Given the description of an element on the screen output the (x, y) to click on. 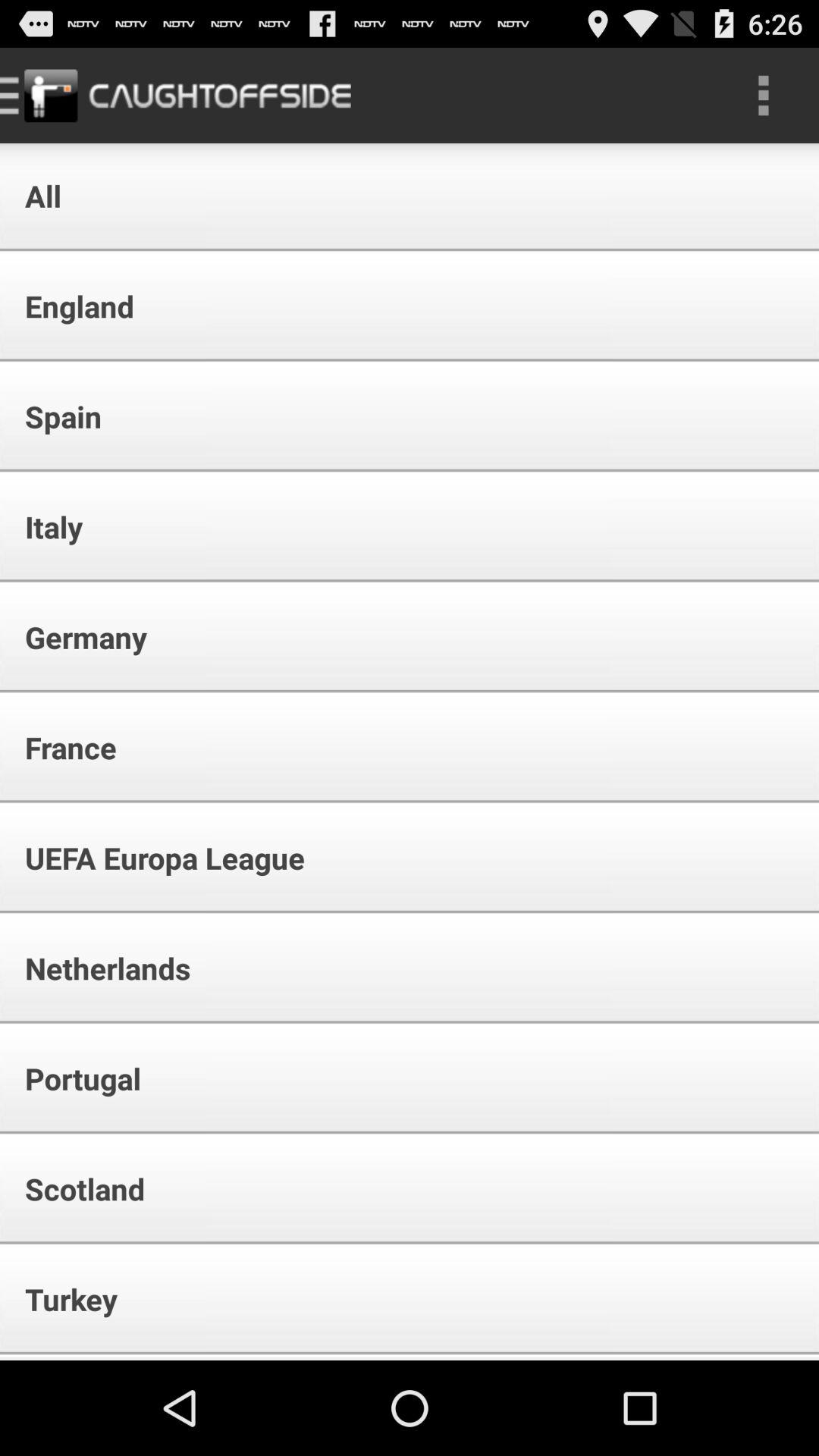
launch the turkey icon (61, 1299)
